Given the description of an element on the screen output the (x, y) to click on. 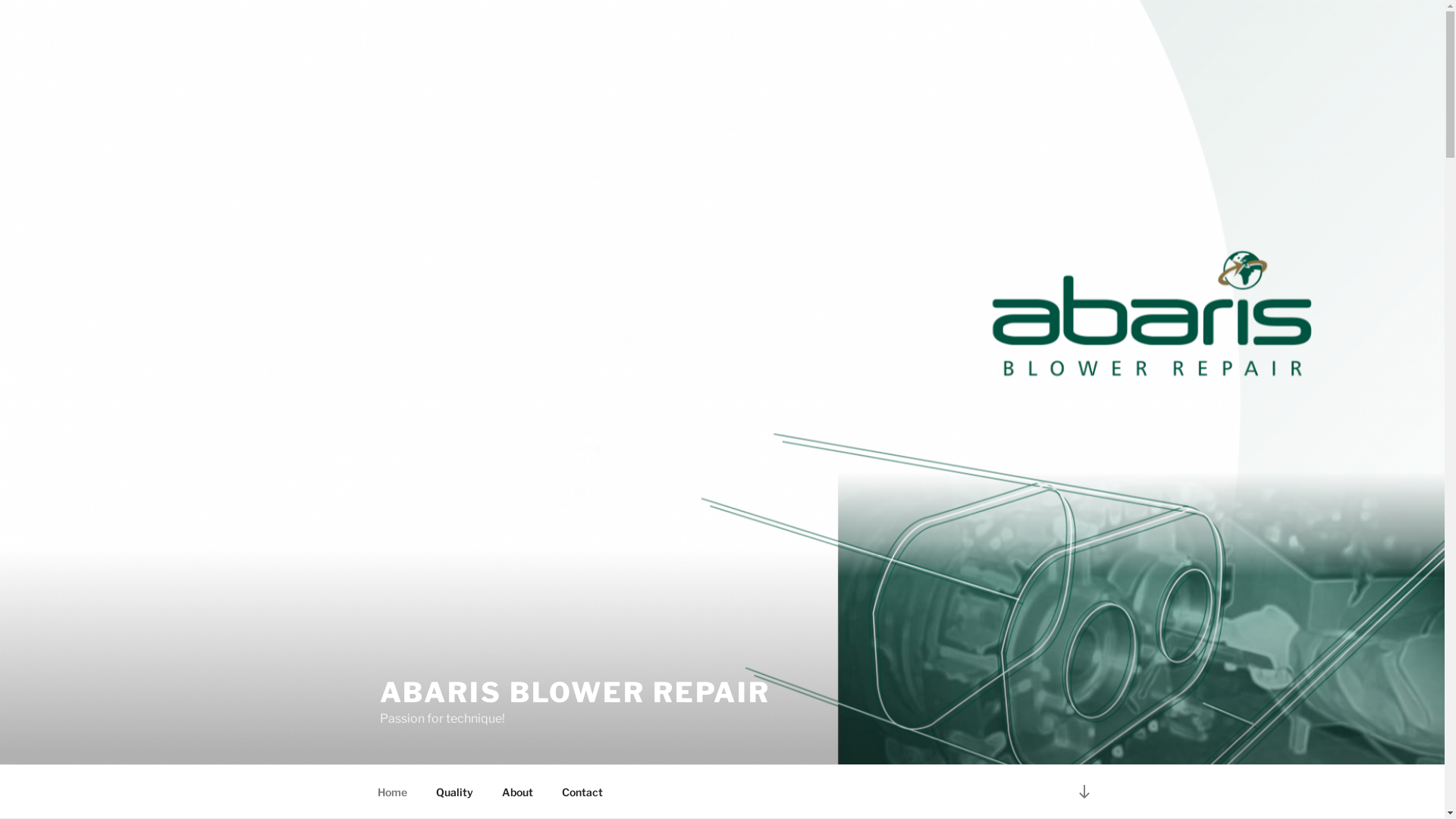
About Element type: text (517, 791)
Skip to content Element type: text (0, 0)
Home Element type: text (392, 791)
Quality Element type: text (454, 791)
Scroll down to content Element type: text (1083, 790)
ABARIS BLOWER REPAIR Element type: text (574, 692)
Contact Element type: text (582, 791)
